Given the description of an element on the screen output the (x, y) to click on. 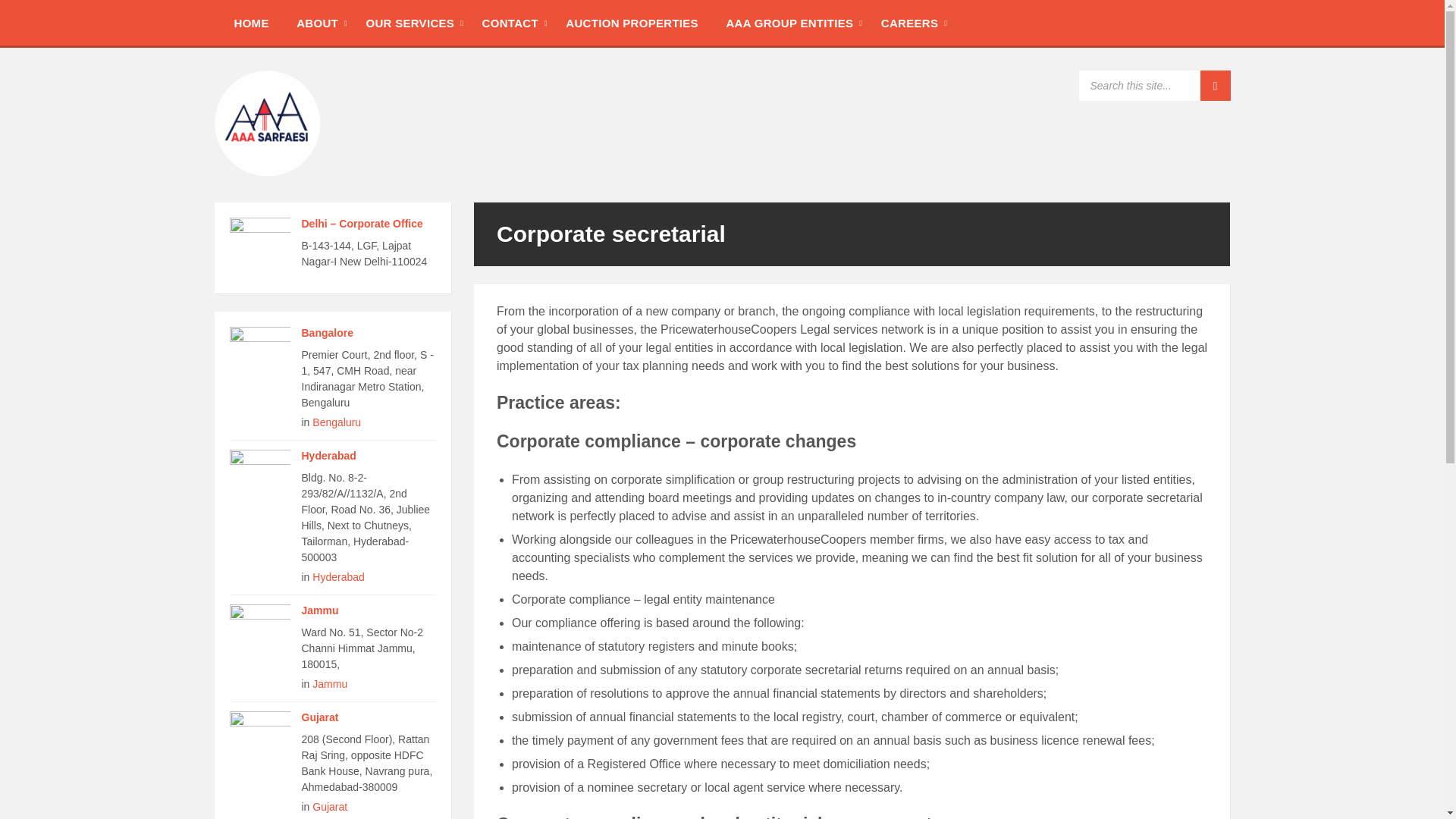
HOME (251, 22)
AAA GROUP ENTITIES (788, 22)
ABOUT (316, 22)
CAREERS (909, 22)
OUR SERVICES (409, 22)
AUCTION PROPERTIES (631, 22)
CONTACT (510, 22)
Search (1214, 85)
